Given the description of an element on the screen output the (x, y) to click on. 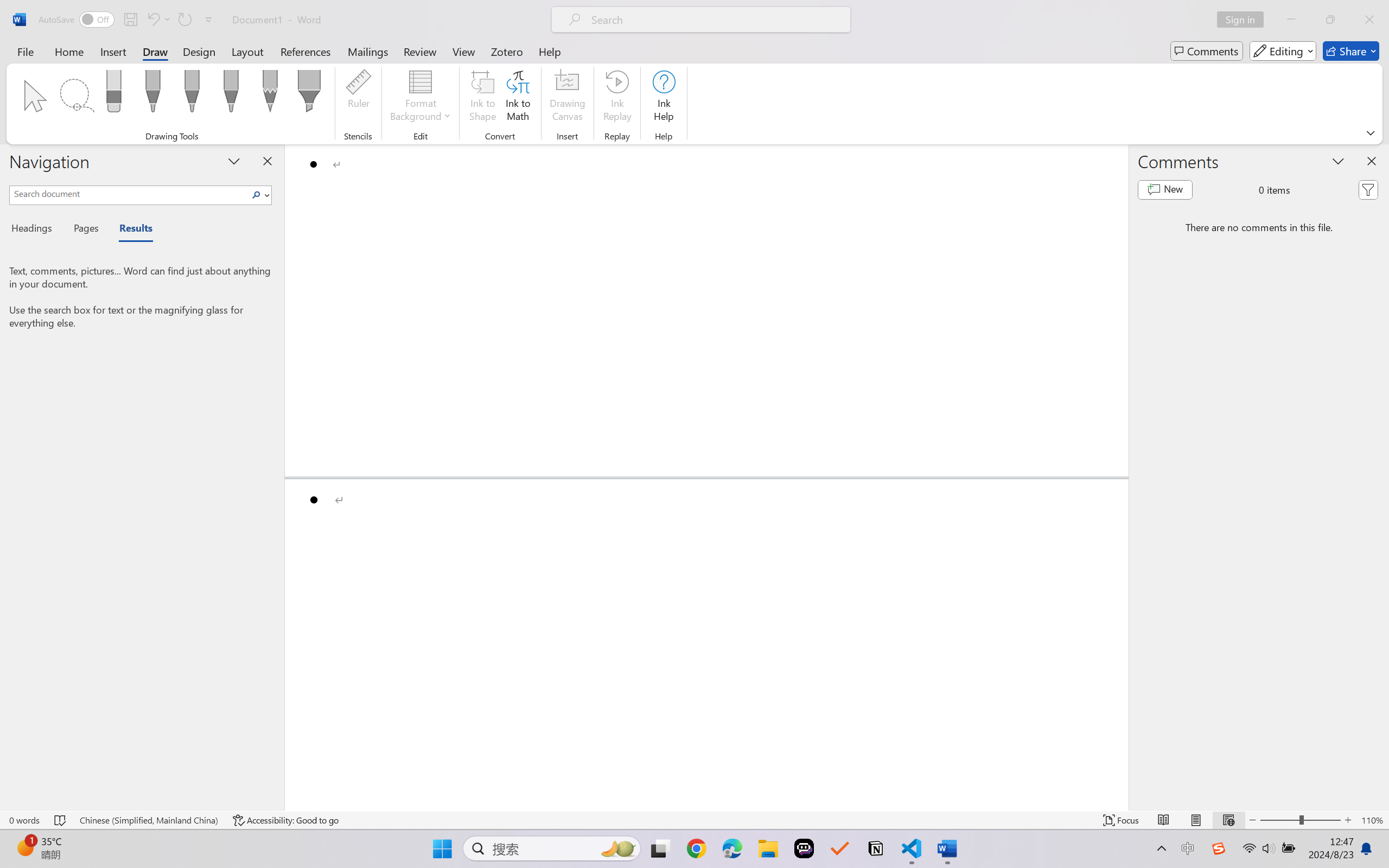
Results (130, 229)
Ink to Shape (483, 97)
Pen: Galaxy, 1 mm (230, 94)
Undo Bullet Default (152, 19)
Format Background (420, 97)
Ink to Math (517, 97)
Filter (1367, 189)
